Given the description of an element on the screen output the (x, y) to click on. 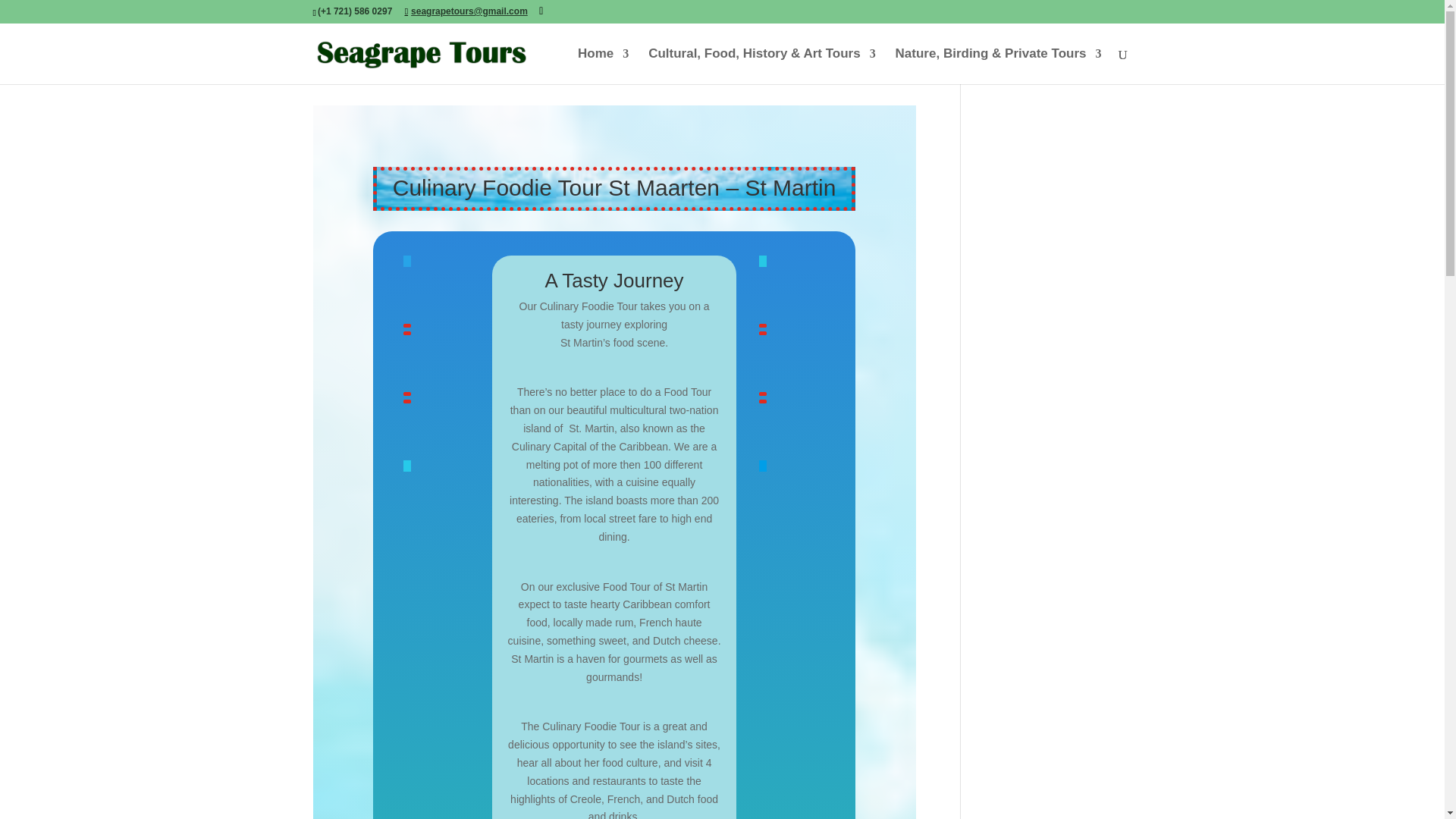
Home (603, 66)
